Given the description of an element on the screen output the (x, y) to click on. 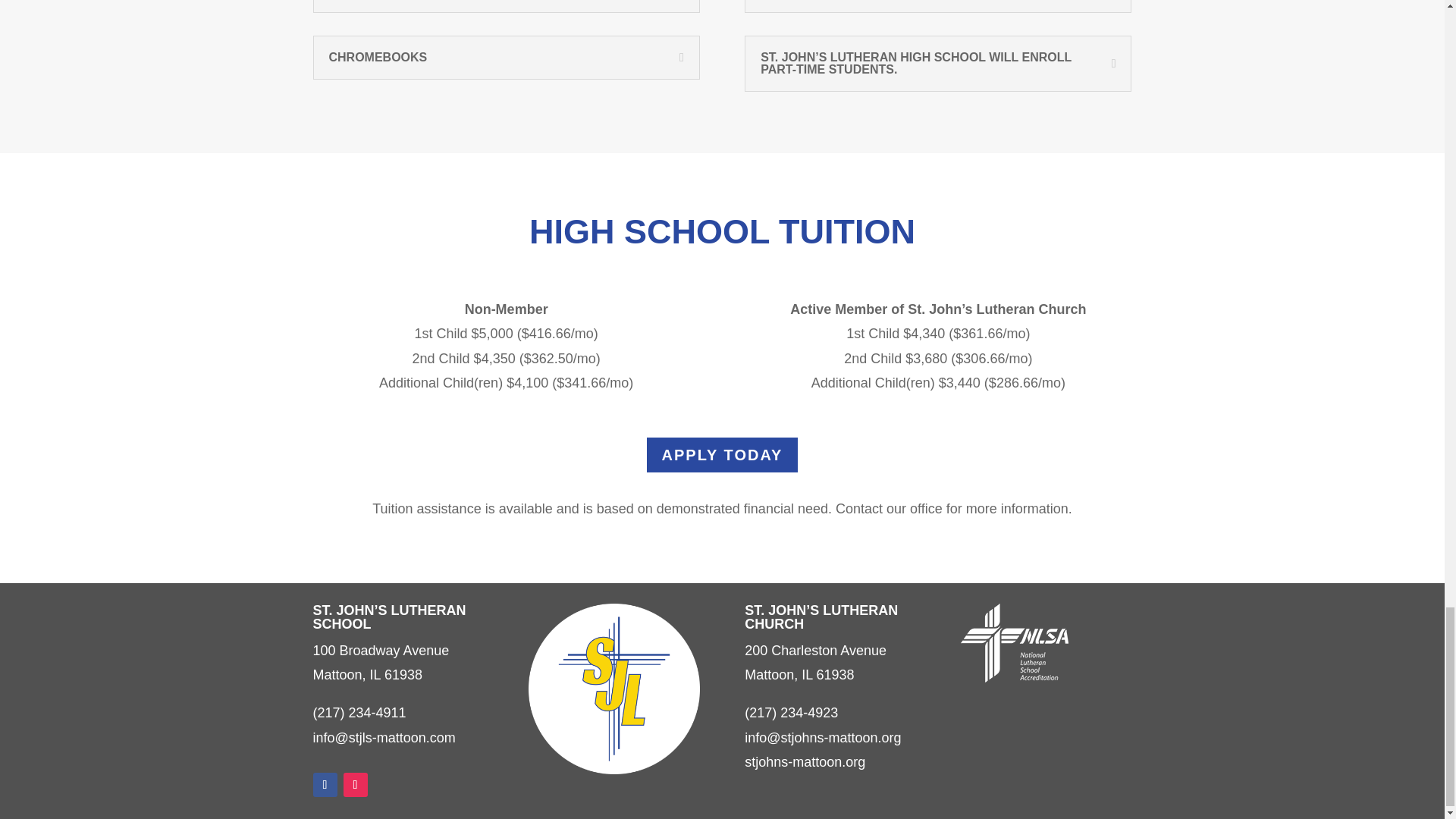
National Lutheran School Accreditation (1014, 642)
SJL-Icon (613, 688)
Follow on Instagram (354, 784)
Follow on Facebook (324, 784)
